Given the description of an element on the screen output the (x, y) to click on. 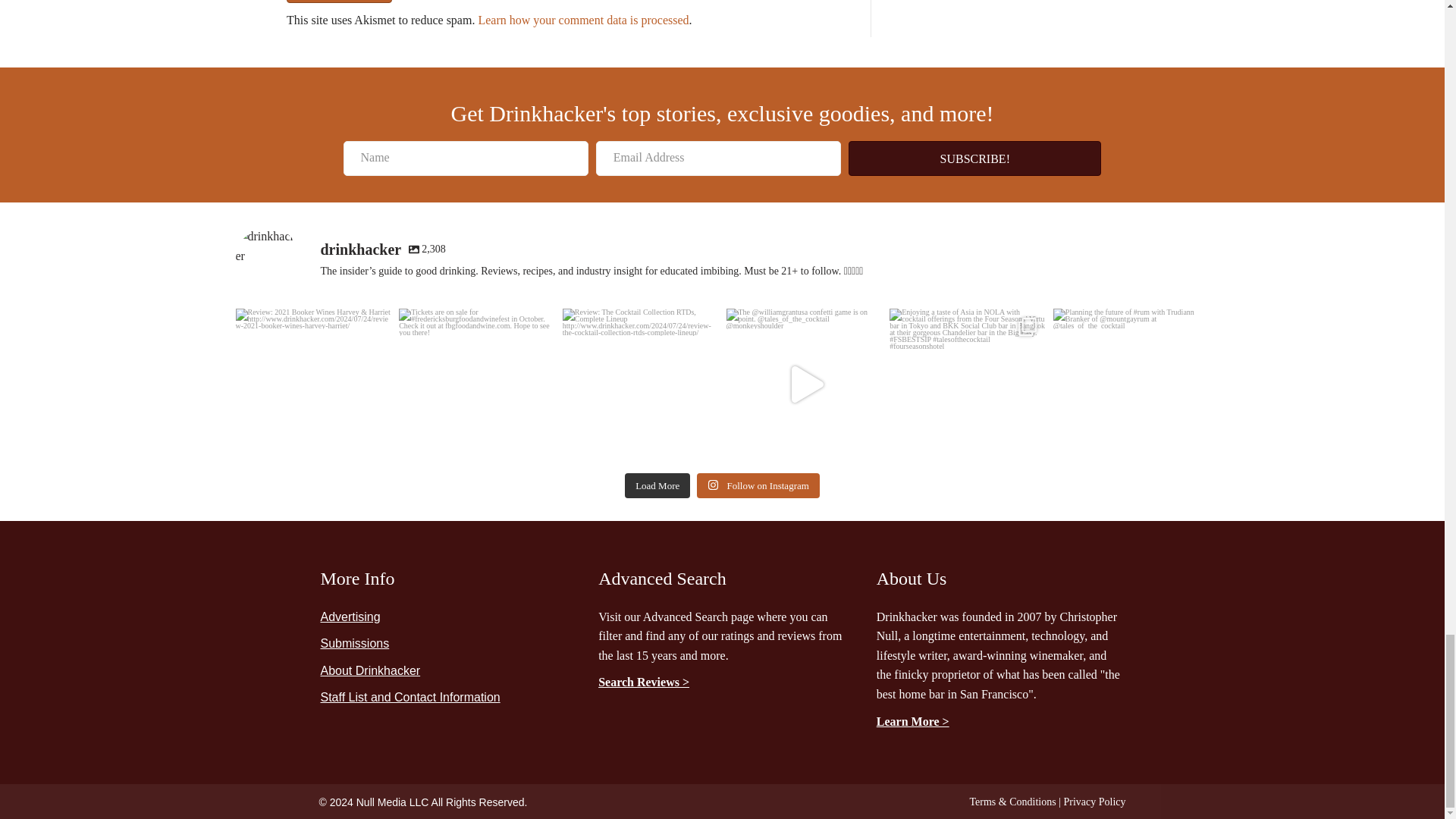
Submit Comment (338, 1)
